Given the description of an element on the screen output the (x, y) to click on. 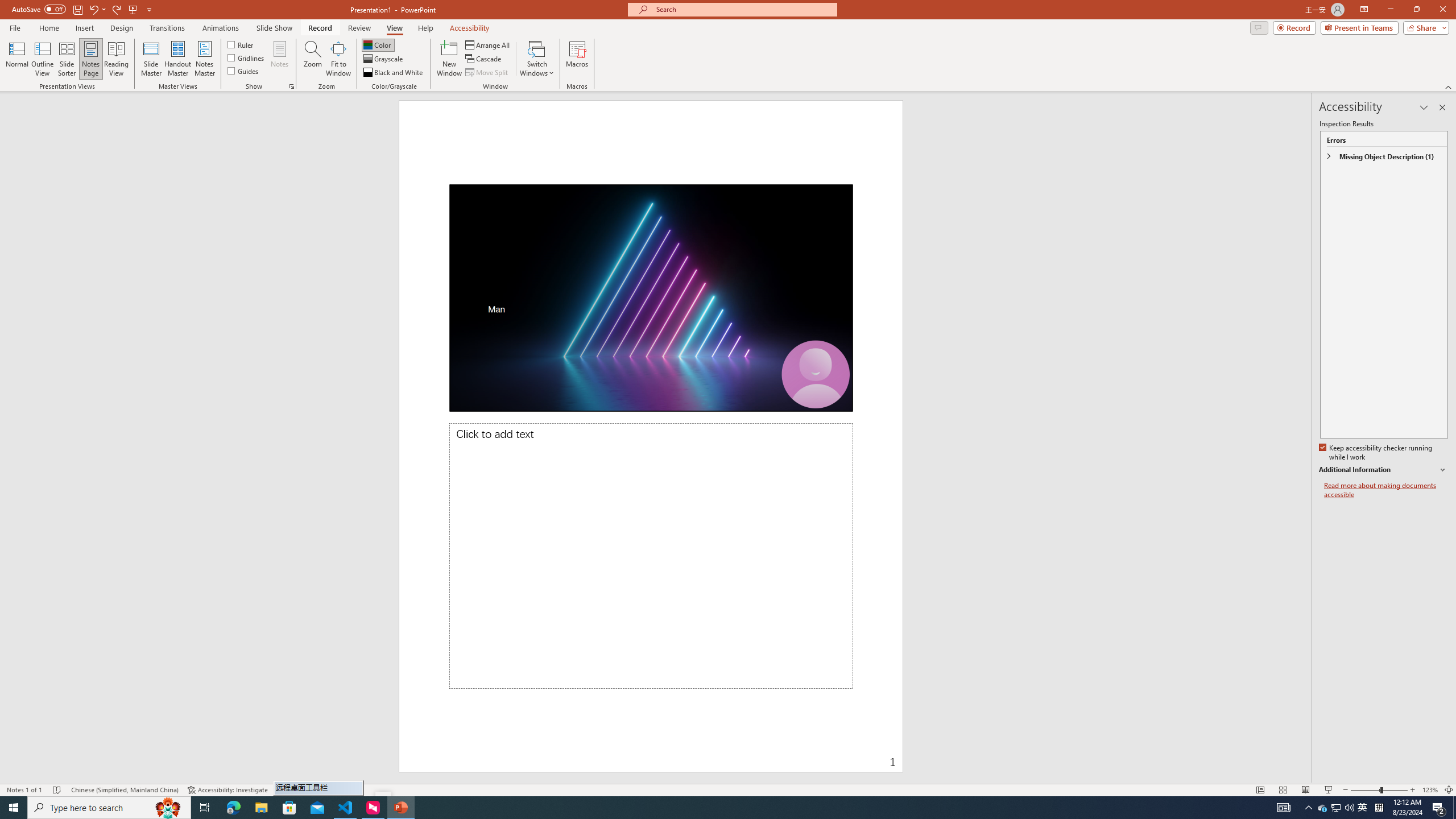
Notes Master (204, 58)
Zoom 123% (1430, 790)
Notes Page (90, 58)
Grid Settings... (291, 85)
